Given the description of an element on the screen output the (x, y) to click on. 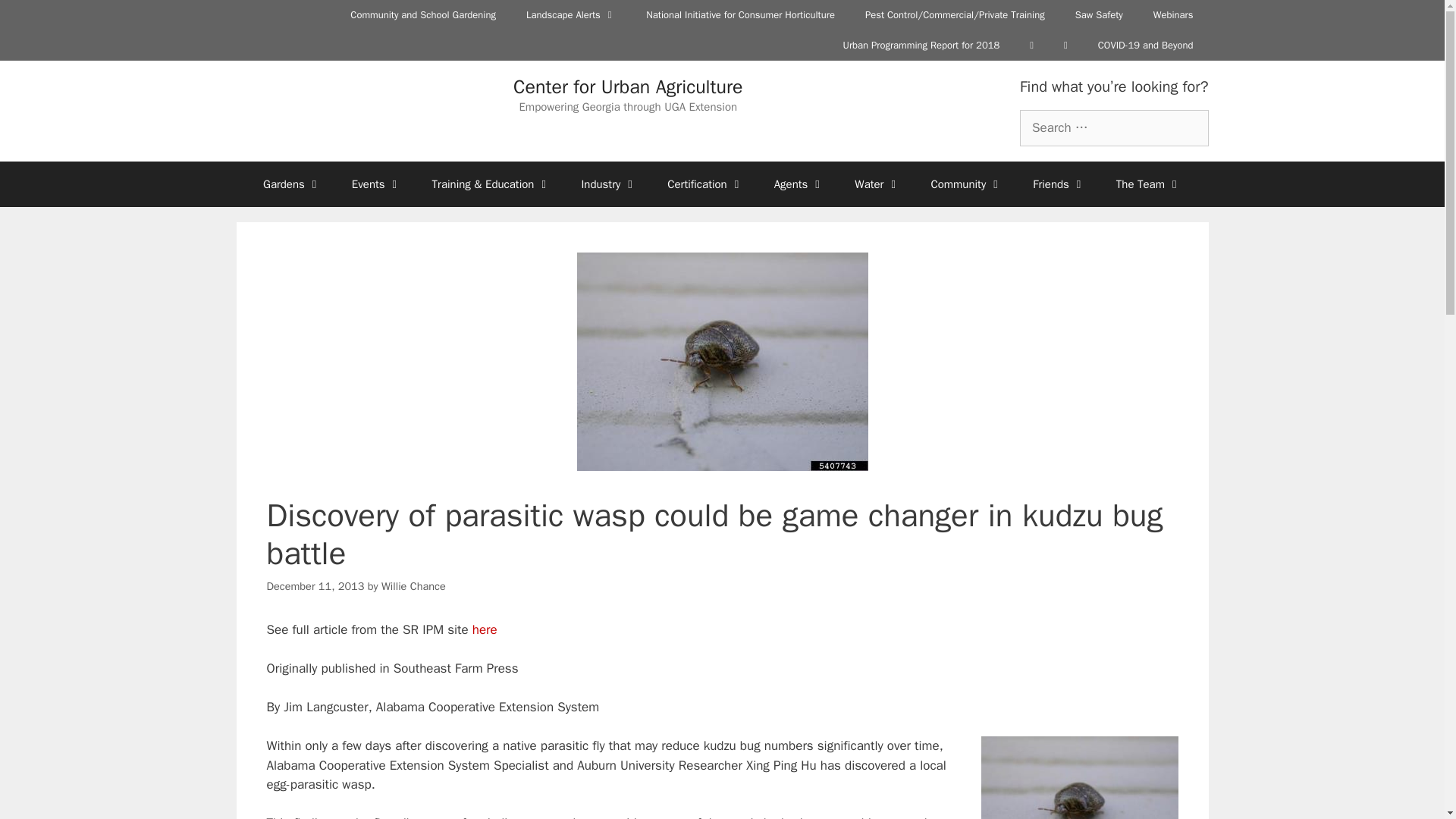
Center for Urban Agriculture (627, 86)
View all posts by Willie Chance (413, 585)
Gardens (291, 183)
Community and School Gardening (422, 15)
Events (376, 183)
Search for: (1114, 127)
Read full article in Southern Region IPM News (484, 629)
Saw Safety (1098, 15)
COVID-19 and Beyond (1145, 45)
Industry (609, 183)
Webinars (1173, 15)
Landscape Alerts (570, 15)
Search (35, 18)
Certification (705, 183)
National Initiative for Consumer Horticulture (740, 15)
